Given the description of an element on the screen output the (x, y) to click on. 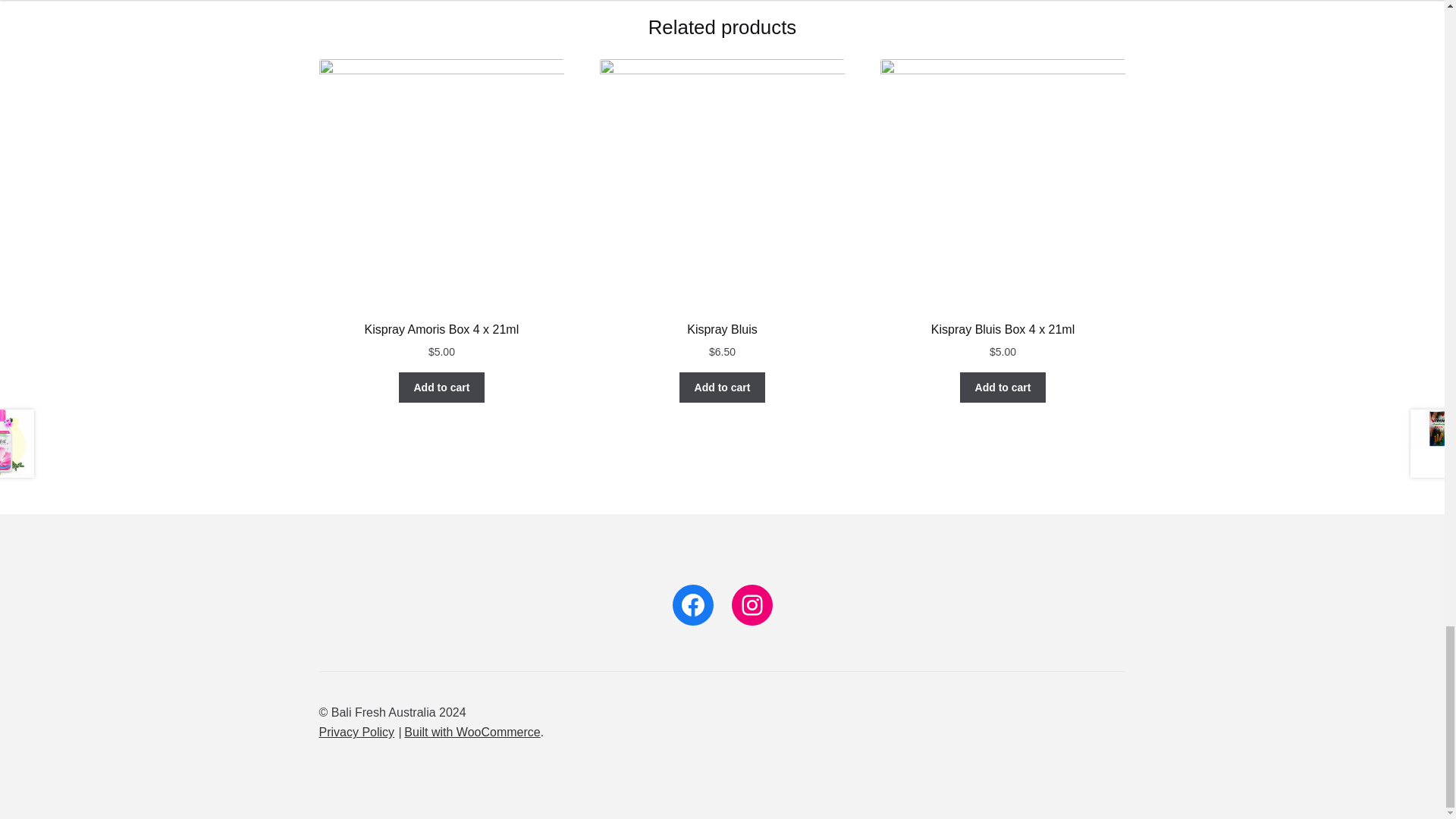
WooCommerce - The Best eCommerce Platform for WordPress (472, 731)
